Given the description of an element on the screen output the (x, y) to click on. 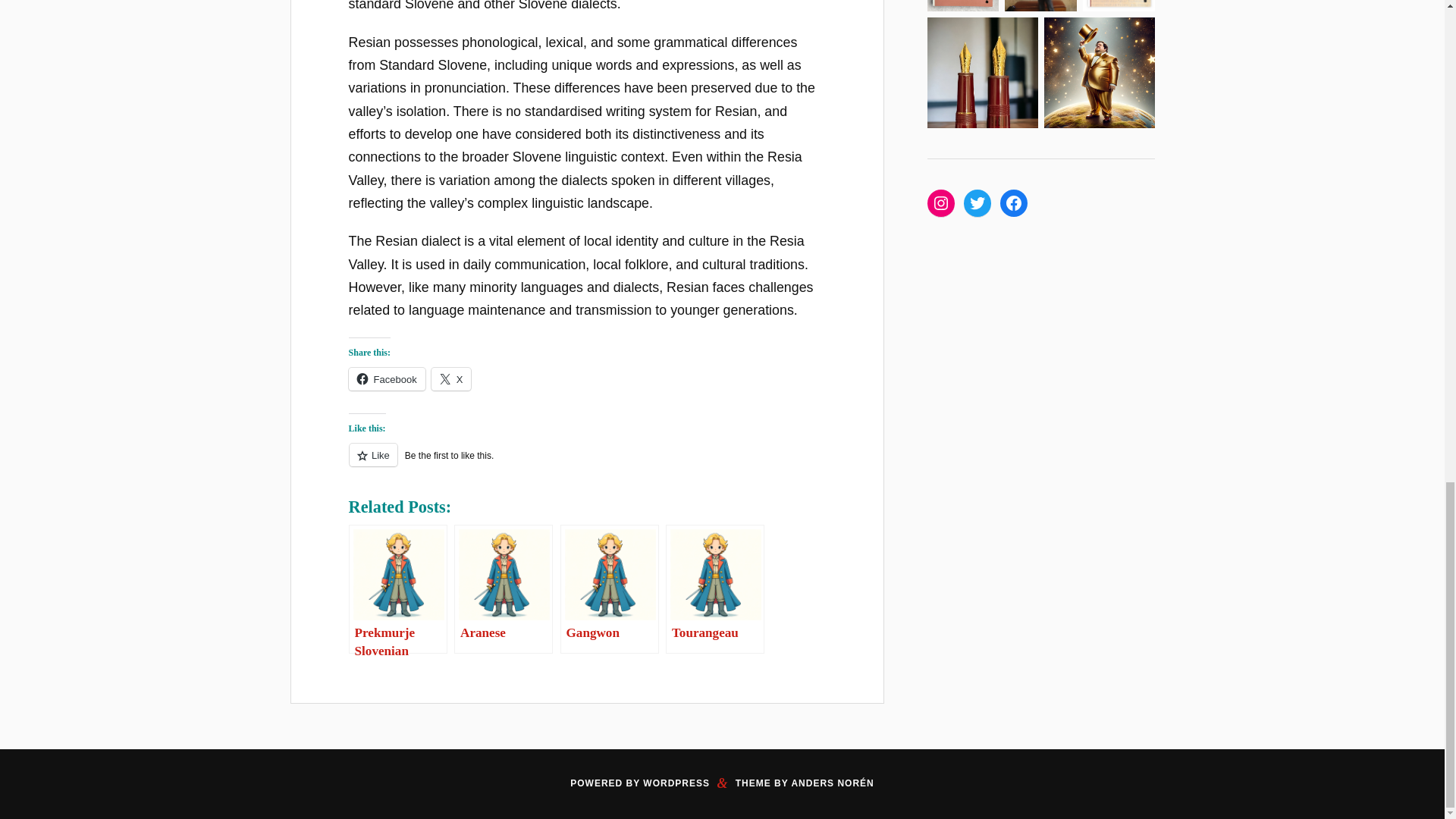
Click to share on X (450, 378)
Like or Reblog (587, 463)
Click to share on Facebook (387, 378)
